Given the description of an element on the screen output the (x, y) to click on. 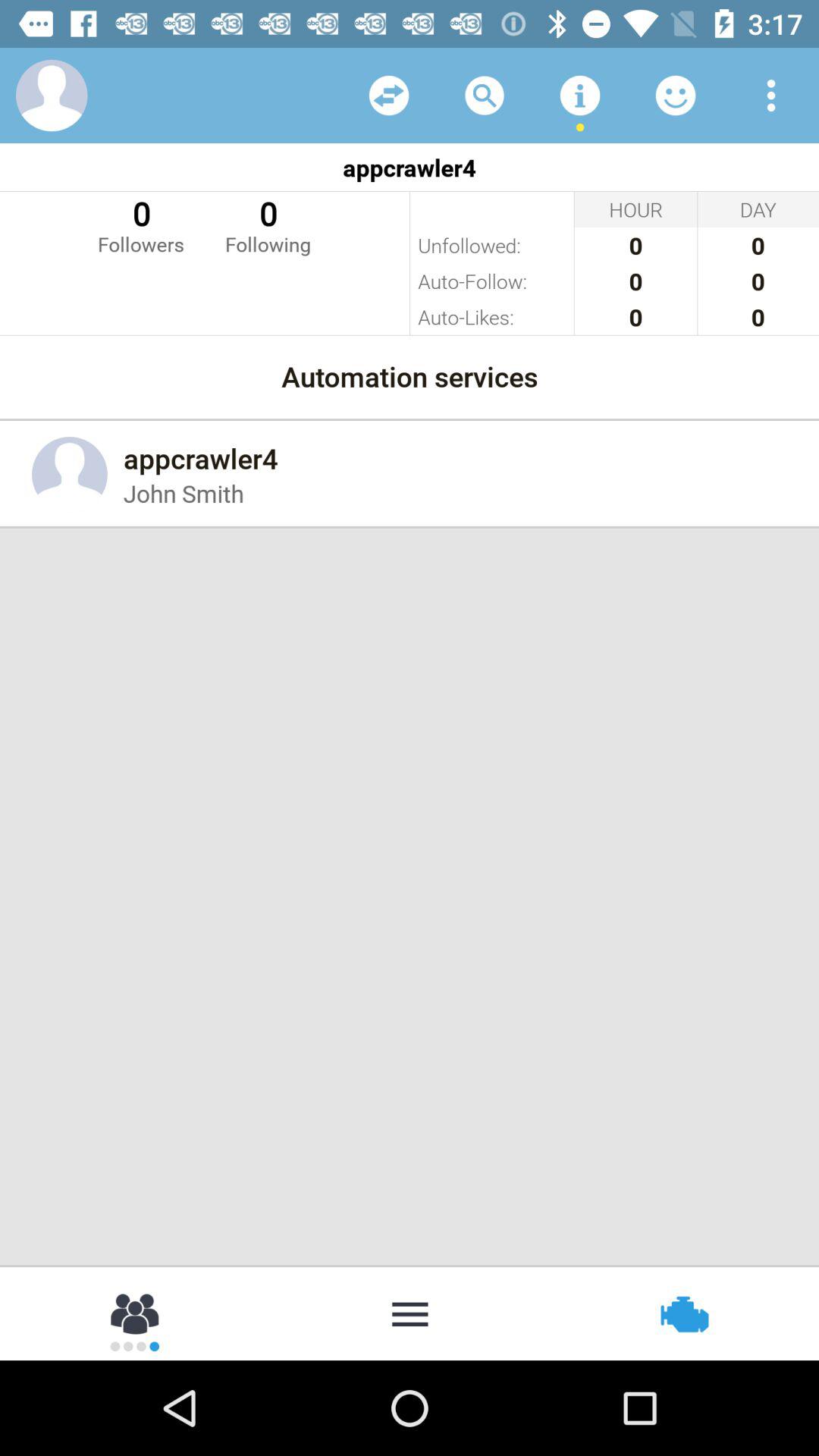
additional info on app (579, 95)
